Given the description of an element on the screen output the (x, y) to click on. 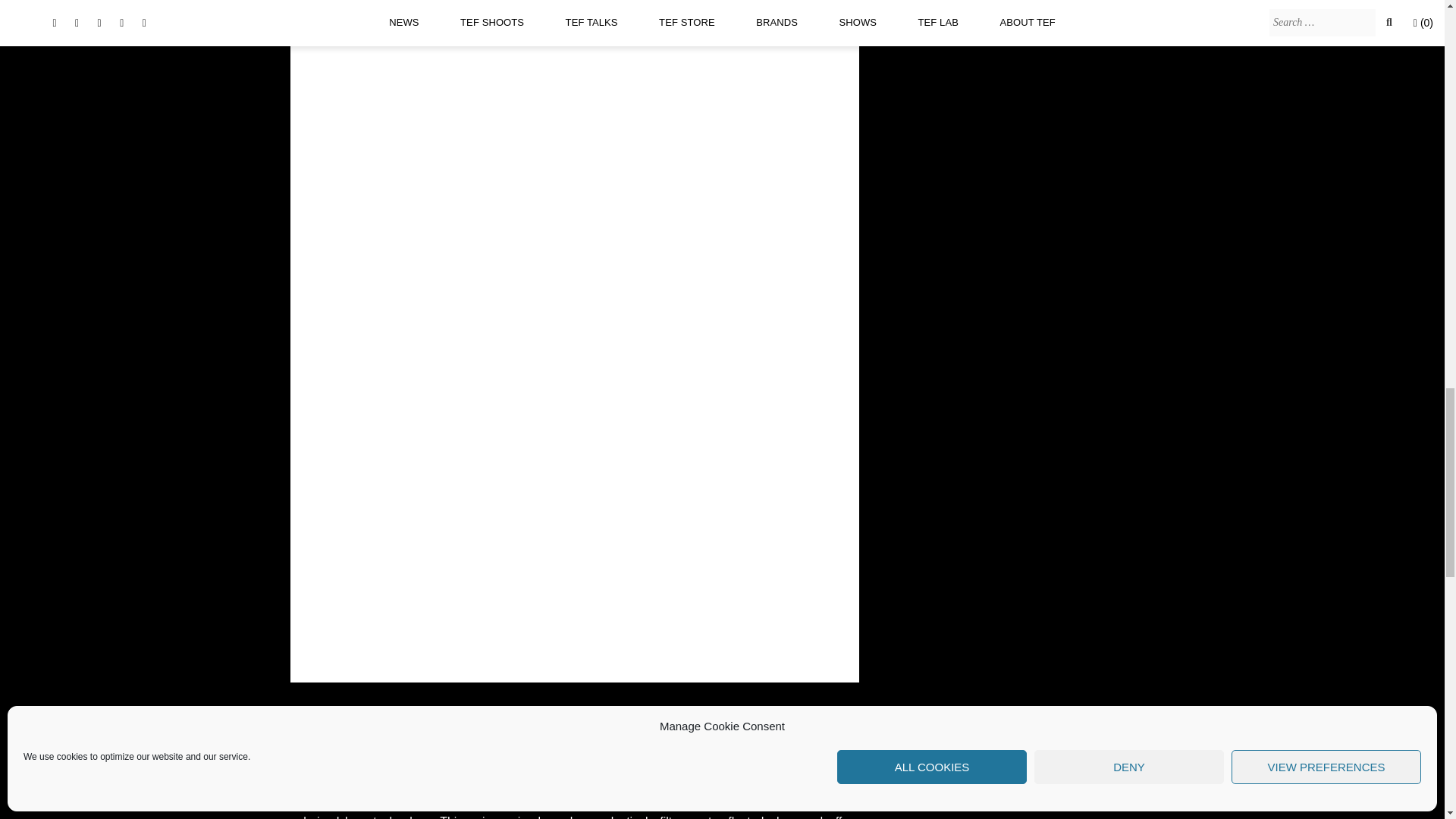
OLYMPUS DIGITAL CAMERA (694, 504)
OLYMPUS DIGITAL CAMERA (324, 504)
